Given the description of an element on the screen output the (x, y) to click on. 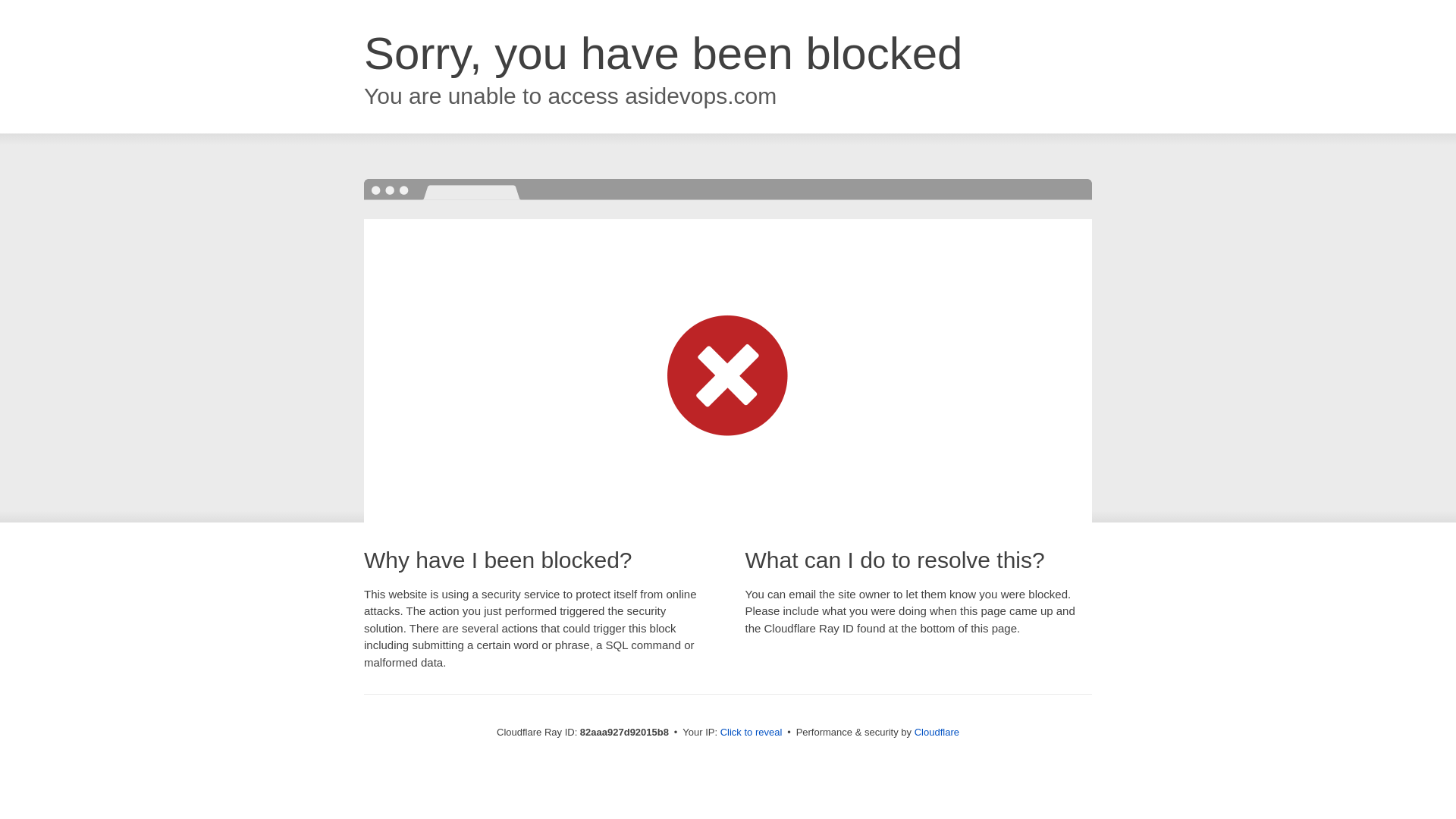
Click to reveal Element type: text (751, 732)
Cloudflare Element type: text (936, 731)
